Given the description of an element on the screen output the (x, y) to click on. 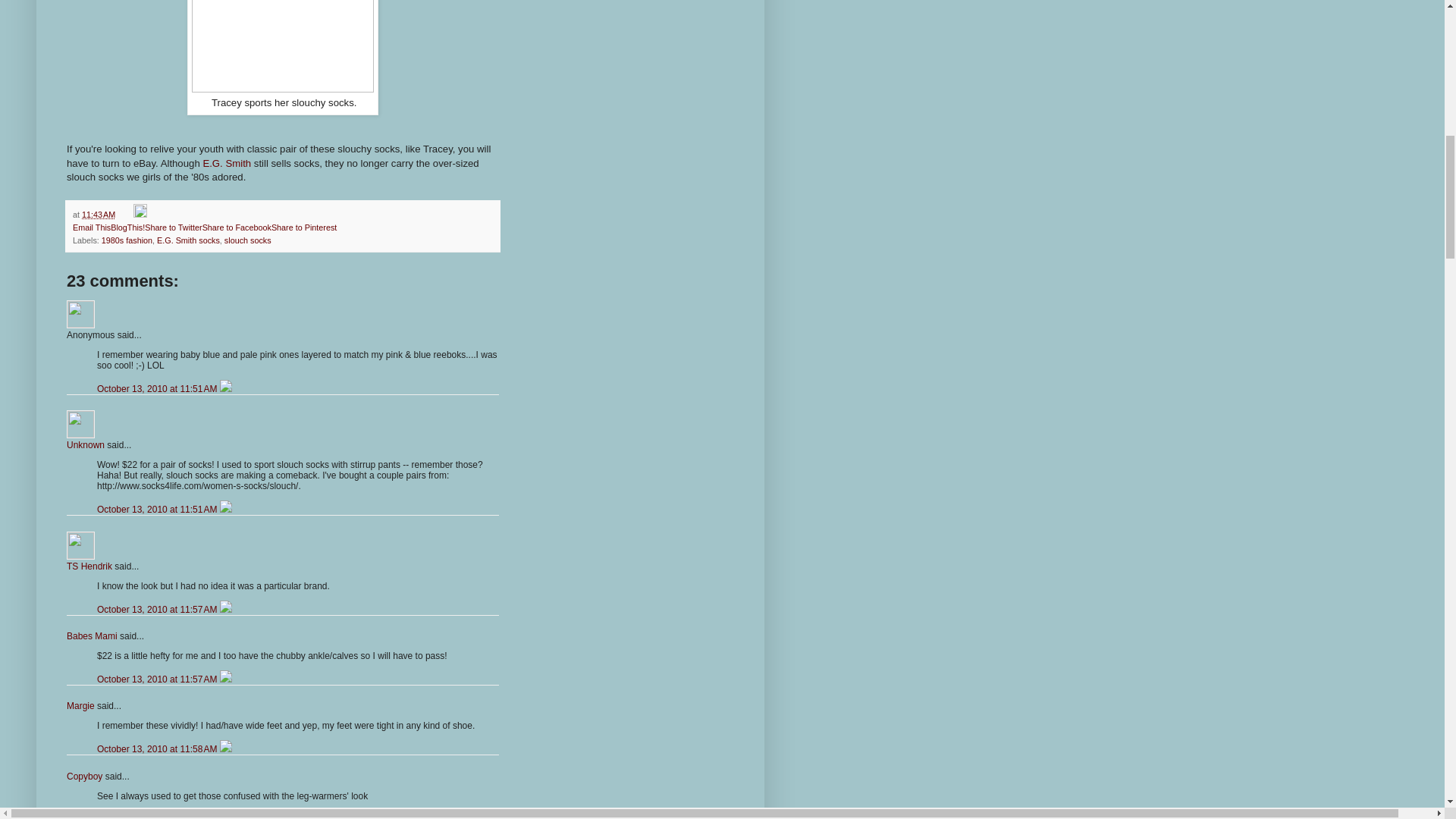
1980s fashion (126, 239)
Anonymous (80, 314)
Delete Comment (225, 388)
TS Hendrik (89, 566)
Margie (80, 706)
Email This (91, 226)
BlogThis! (127, 226)
Email Post (125, 214)
Unknown (80, 424)
Share to Pinterest (303, 226)
Share to Facebook (236, 226)
Share to Facebook (236, 226)
slouch socks (247, 239)
